Given the description of an element on the screen output the (x, y) to click on. 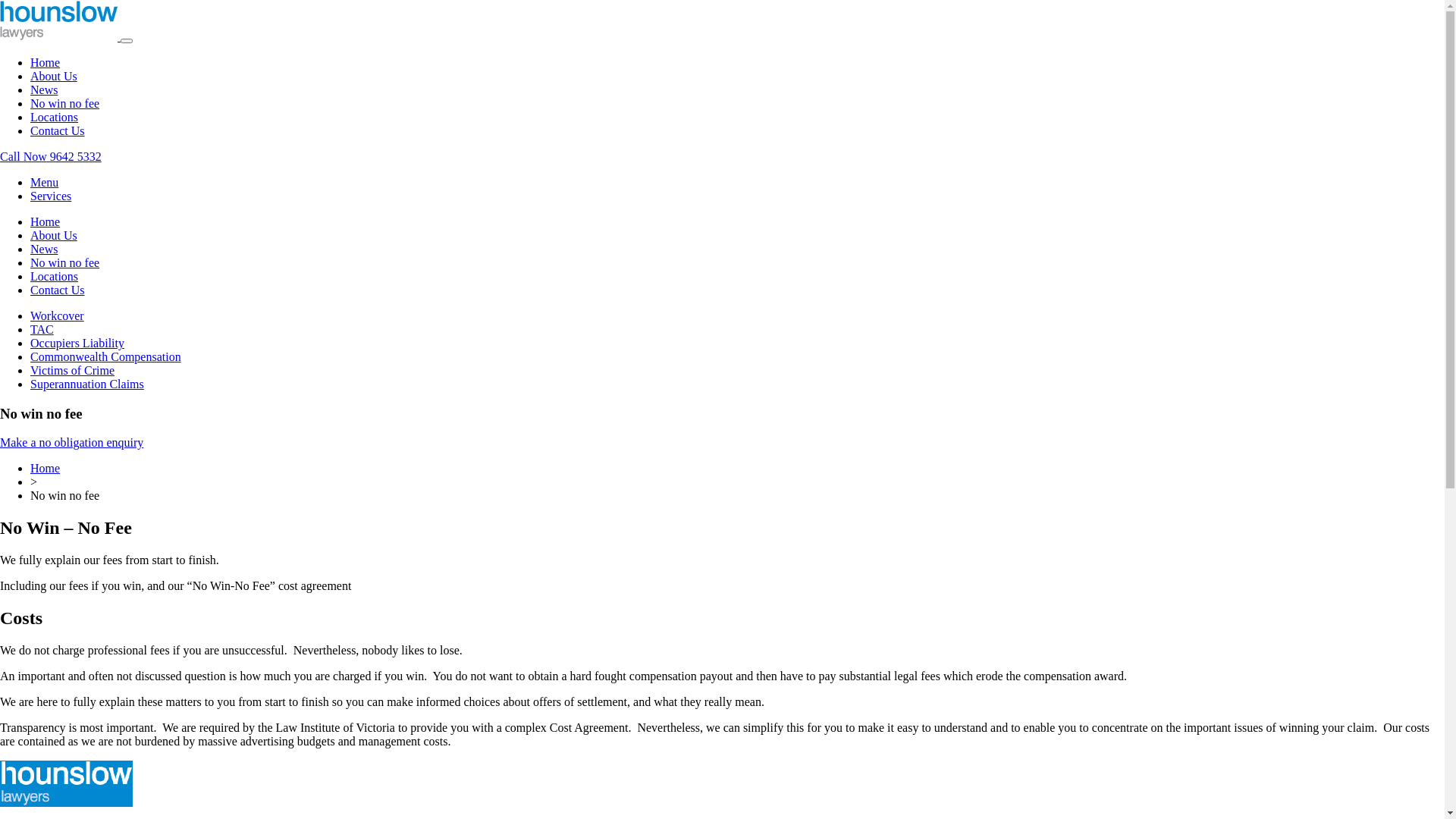
Workcover Element type: text (57, 315)
Contact Us Element type: text (57, 130)
About Us Element type: text (53, 235)
No win no fee Element type: text (64, 103)
Victims of Crime Element type: text (72, 370)
Commonwealth Compensation Element type: text (105, 356)
Superannuation Claims Element type: text (87, 383)
Call Now 9642 5332 Element type: text (50, 156)
Contact Us Element type: text (57, 289)
Make a no obligation enquiry Element type: text (71, 442)
About Us Element type: text (53, 75)
Occupiers Liability Element type: text (77, 342)
Services Element type: text (50, 195)
Home Element type: text (44, 221)
No win no fee Element type: text (64, 262)
News Element type: text (43, 248)
Home Element type: text (44, 467)
Menu Element type: text (44, 181)
Home Element type: text (44, 62)
Locations Element type: text (54, 116)
TAC Element type: text (41, 329)
News Element type: text (43, 89)
Locations Element type: text (54, 275)
